Given the description of an element on the screen output the (x, y) to click on. 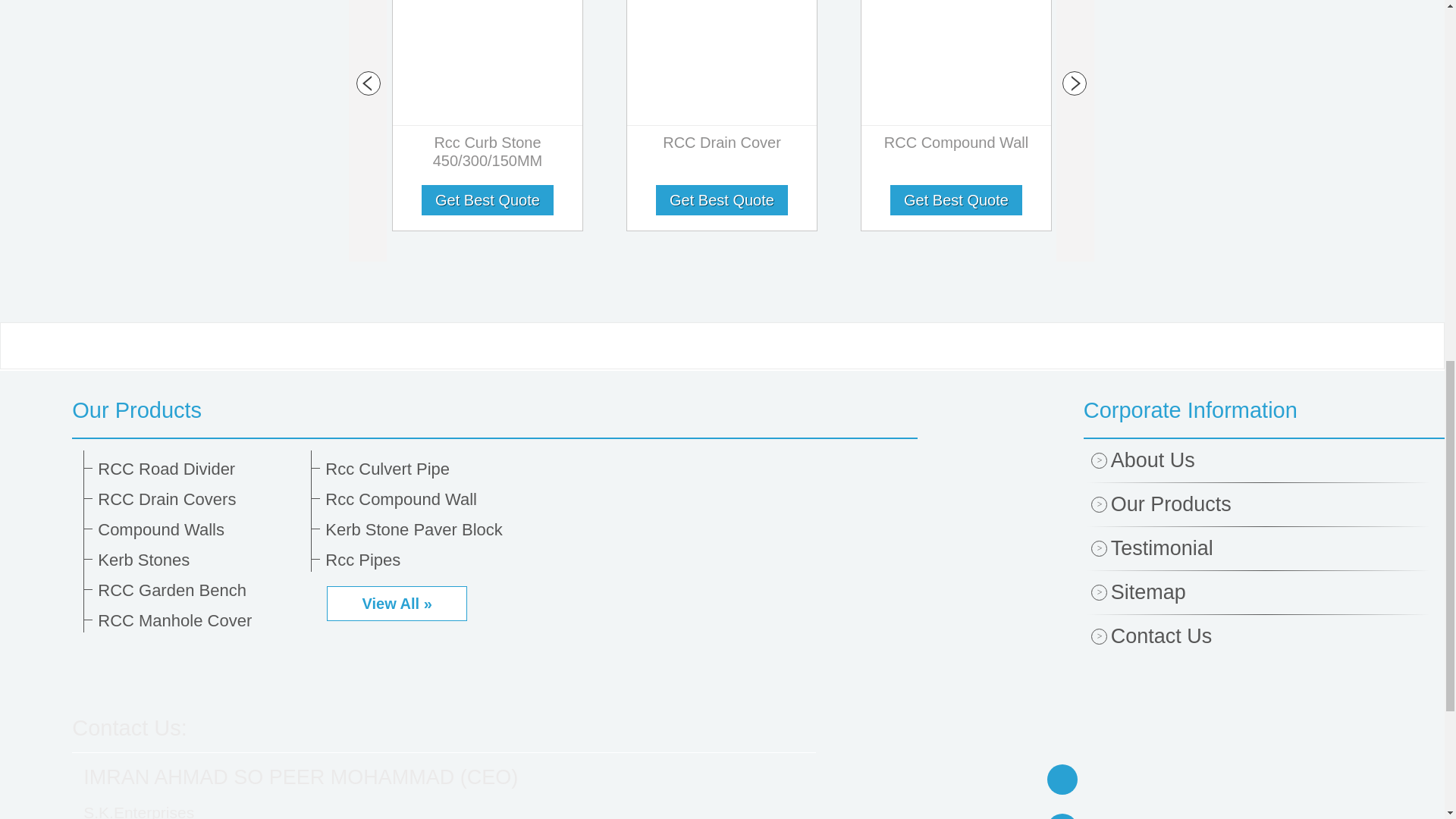
RCC Compound Wall (956, 146)
RCC Road Divider (198, 469)
RCC Drain Cover (721, 146)
Kerb Stone Paver Block (426, 529)
Rcc Compound Wall (426, 499)
Rcc Culvert Pipe (426, 469)
Kerb Stones (198, 560)
Compound Walls (198, 529)
Rcc Pipes (426, 560)
Contact Us: (129, 727)
